Given the description of an element on the screen output the (x, y) to click on. 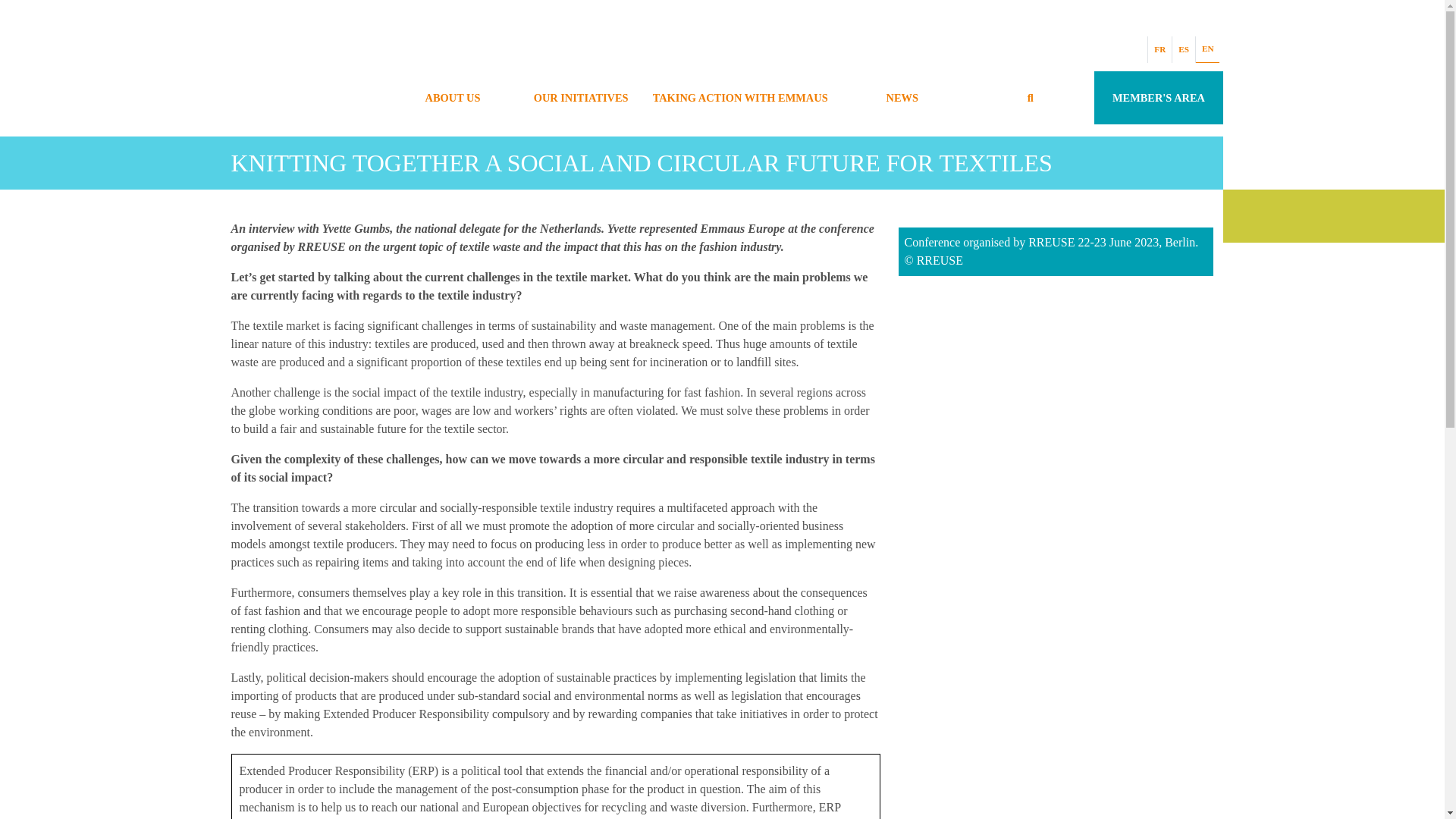
ABOUT US (452, 97)
TAKING ACTION WITH EMMAUS  (741, 97)
NEWS (902, 97)
MEMBER'S AREA (1158, 97)
OUR INITIATIVES (580, 97)
